Given the description of an element on the screen output the (x, y) to click on. 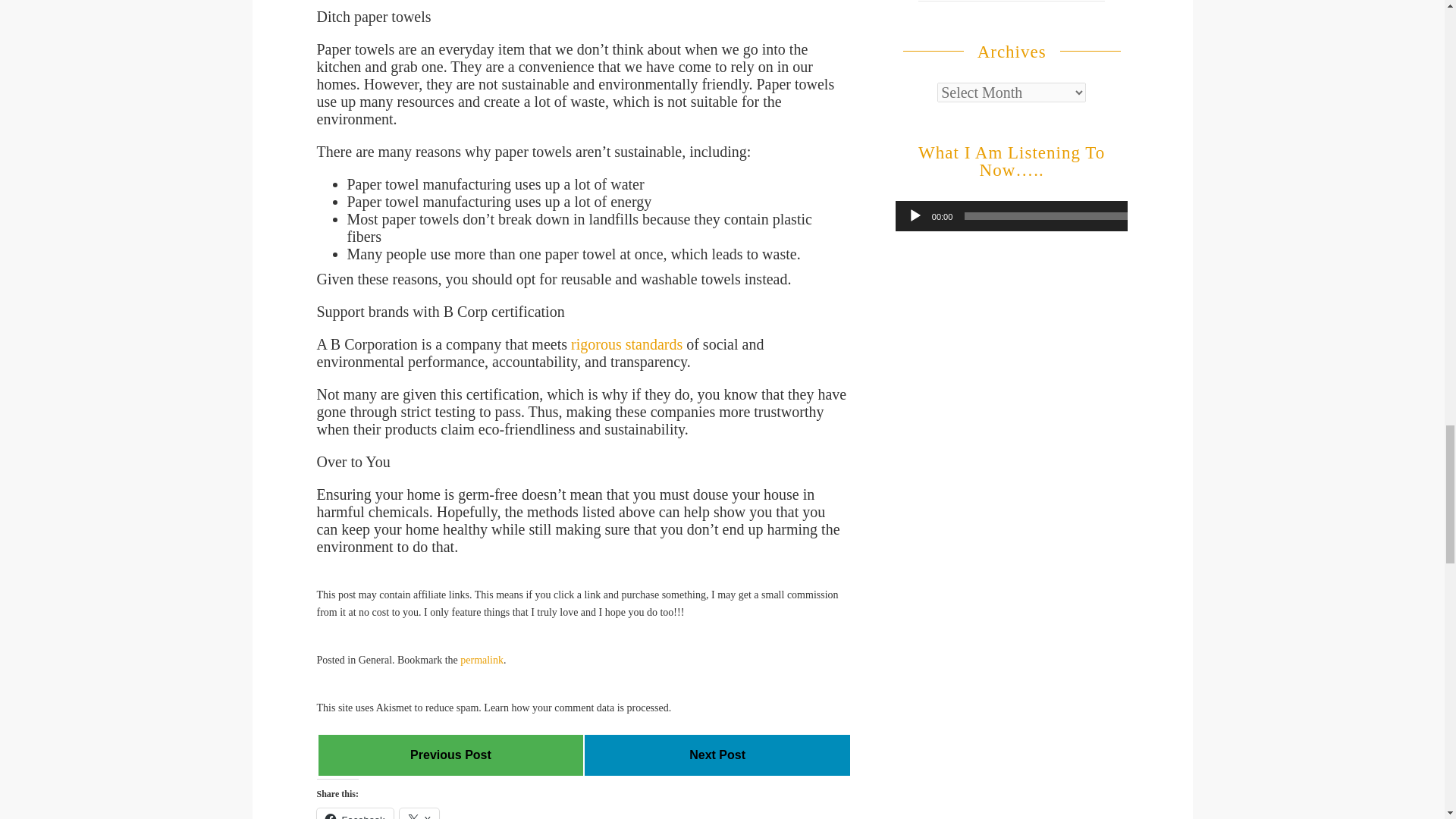
Previous Post (451, 754)
Next Post (717, 754)
You Need To Check Out Ala von Auersperg (451, 754)
Previous Post (450, 754)
permalink (481, 659)
Click to share on Facebook (355, 813)
The Bedford Playhouse...What A Fun Outing.... (717, 754)
X (418, 813)
Facebook (355, 813)
Click to share on X (418, 813)
rigorous standards (626, 343)
Next Post (717, 754)
